Given the description of an element on the screen output the (x, y) to click on. 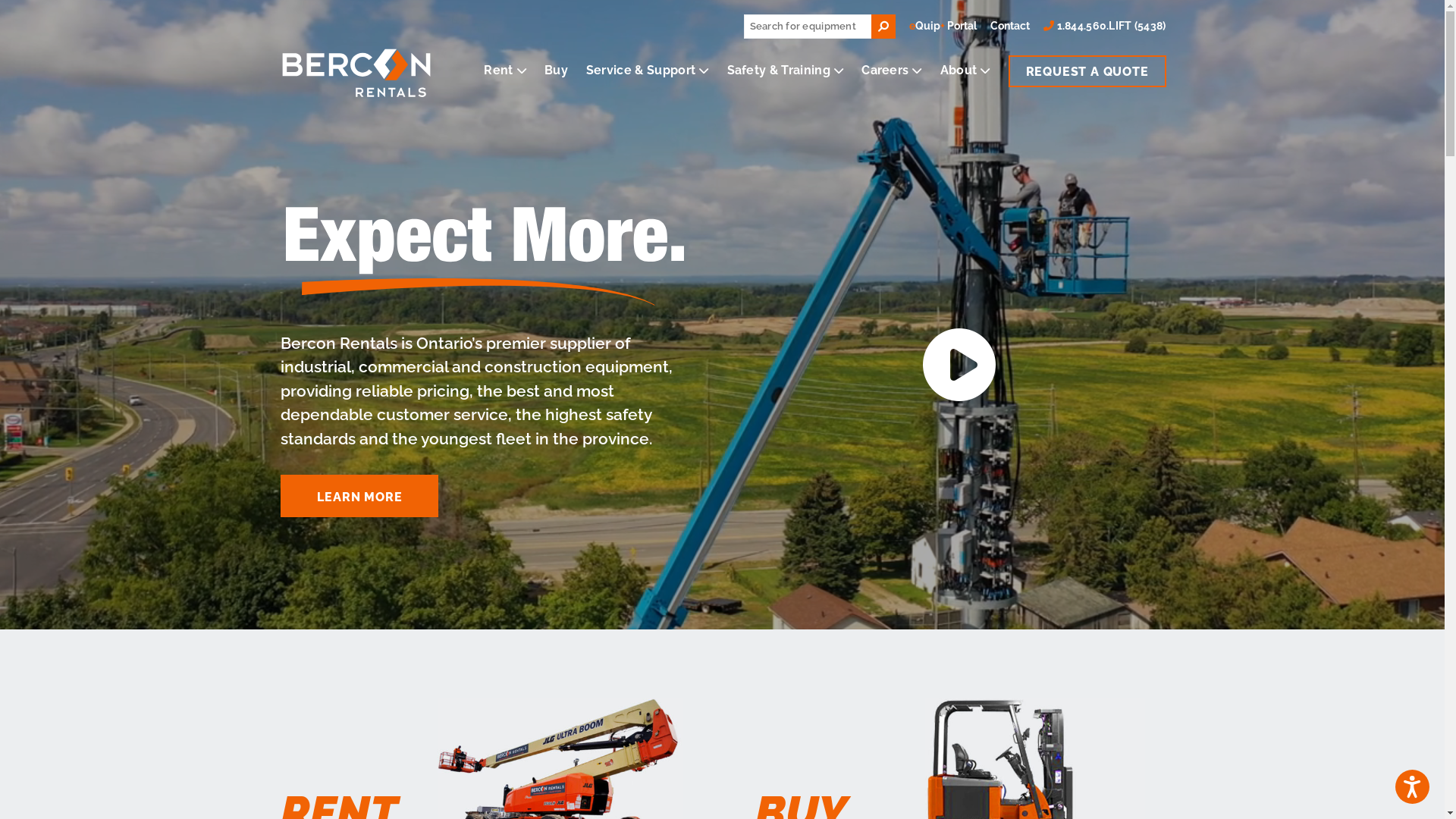
Buy Element type: text (555, 69)
Careers Element type: text (891, 69)
Service & Support Element type: text (647, 69)
Safety & Training Element type: text (785, 69)
Contact Element type: text (1009, 26)
LEARN MORE Element type: text (359, 495)
Rent Element type: text (504, 69)
1.844.560.LIFT (5438) Element type: text (1104, 26)
eQuip+ Portal Element type: text (942, 26)
About Element type: text (965, 69)
REQUEST A QUOTE Element type: text (1087, 71)
